Given the description of an element on the screen output the (x, y) to click on. 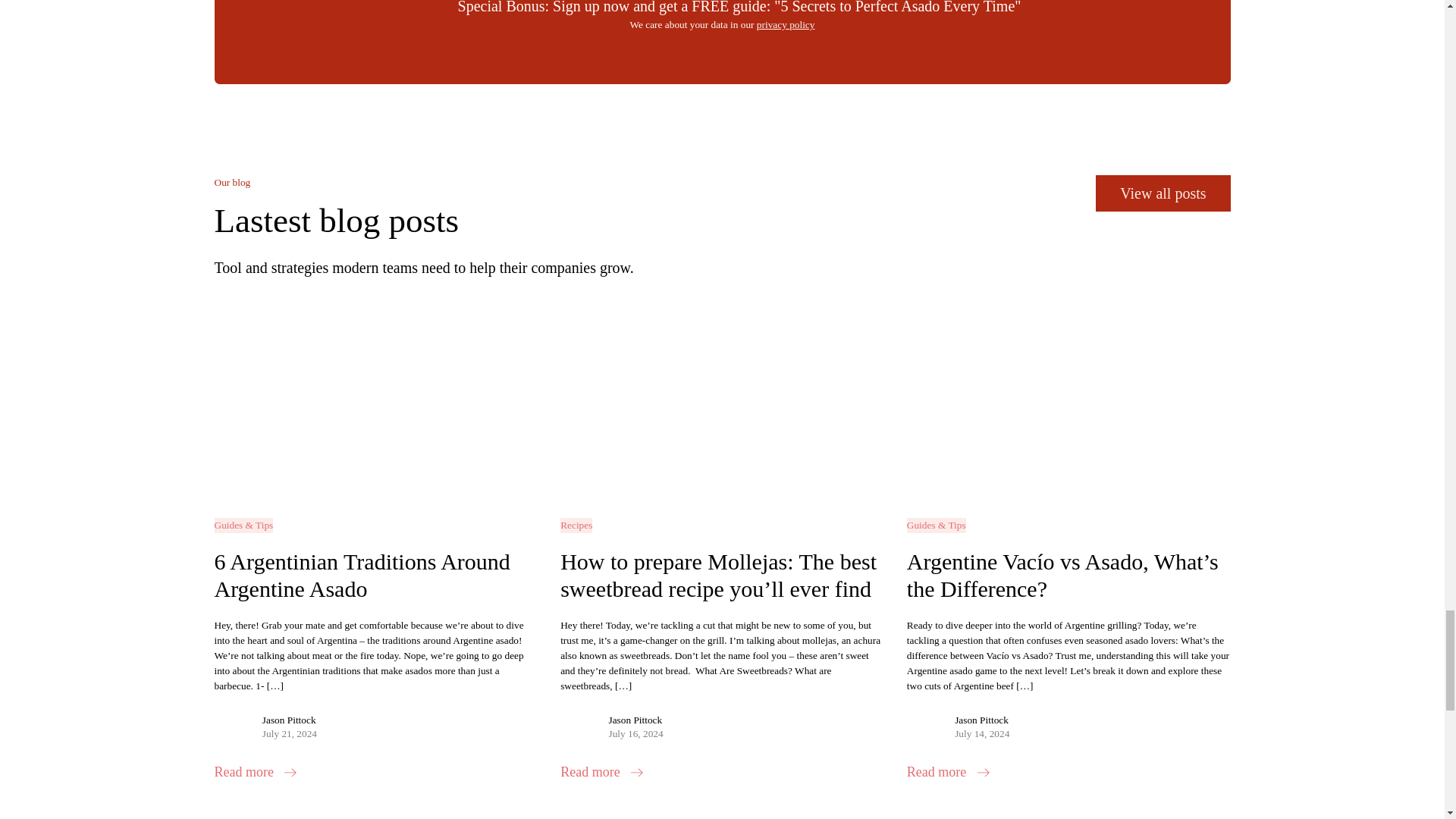
View all posts (1163, 193)
Read more (601, 772)
privacy policy (786, 24)
Read more (948, 772)
Read more (255, 772)
Recipes (576, 524)
